Given the description of an element on the screen output the (x, y) to click on. 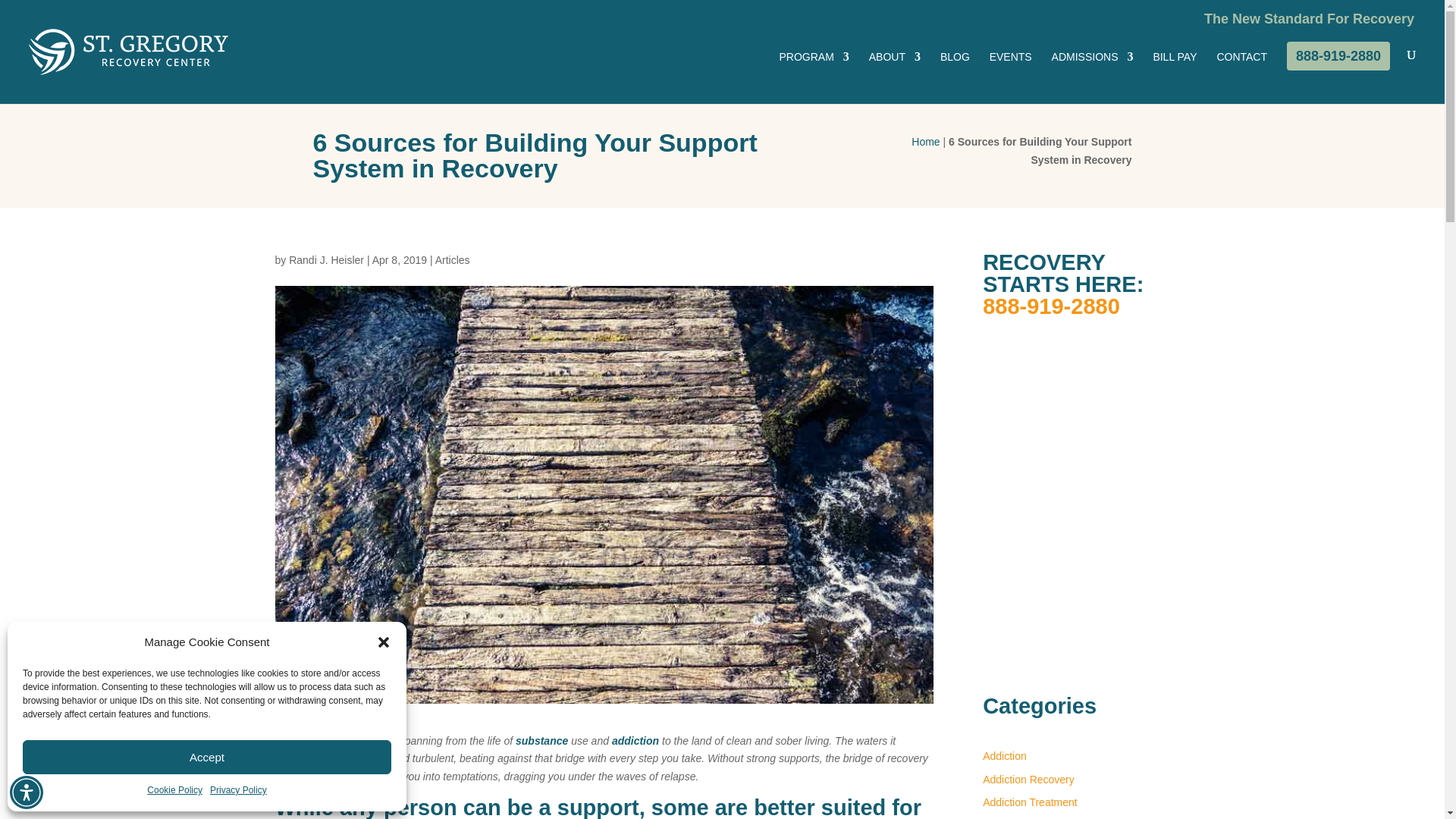
PROGRAM (813, 77)
Accept (207, 756)
Cookie Policy (174, 791)
888-919-2880 (1338, 55)
ABOUT (894, 77)
Posts by Randi J. Heisler (326, 259)
Privacy Policy (237, 791)
CONTACT (1240, 77)
ADMISSIONS (1092, 77)
Accessibility Menu (26, 792)
